Given the description of an element on the screen output the (x, y) to click on. 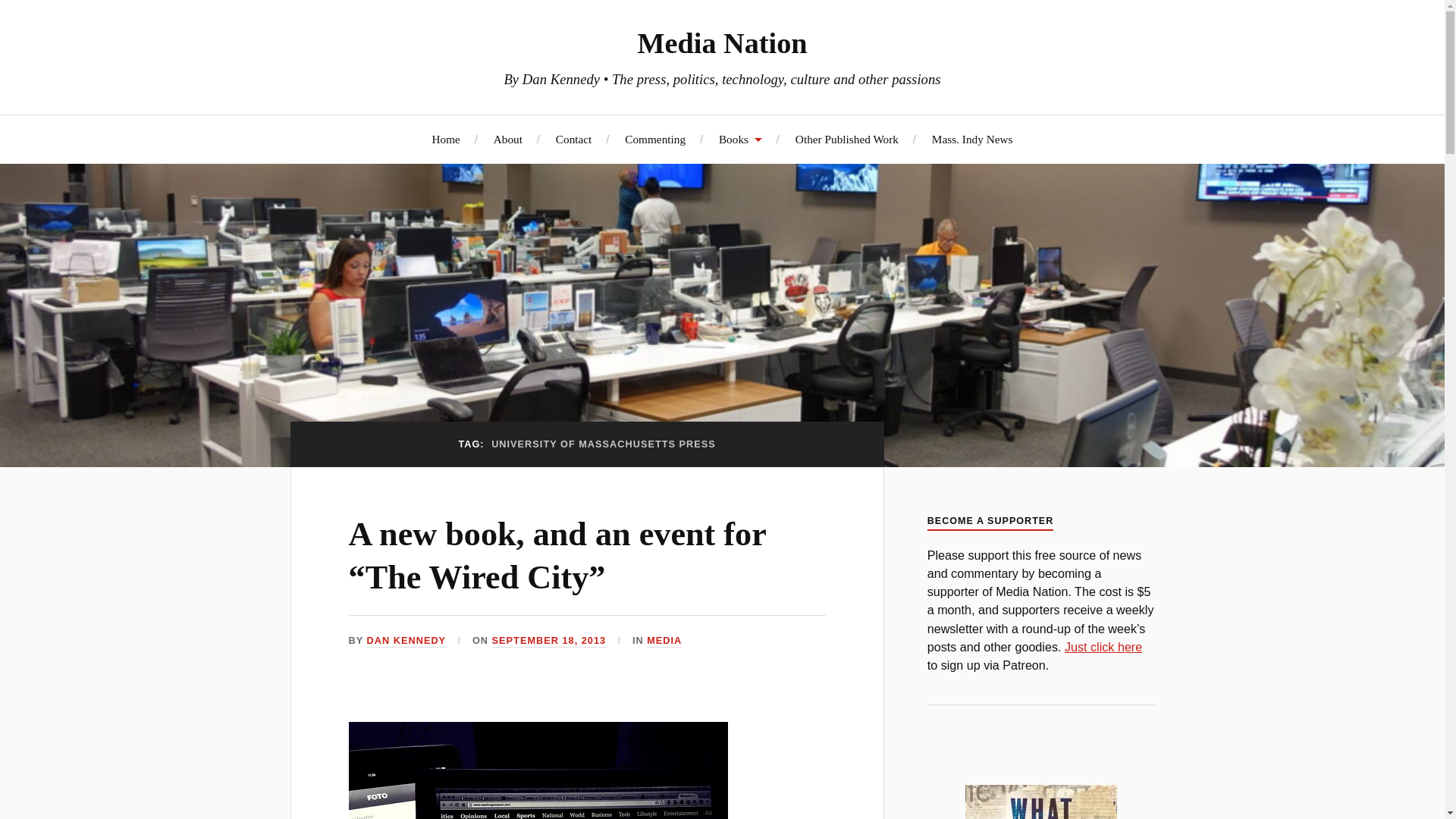
Media Nation (721, 42)
DAN KENNEDY (406, 640)
SEPTEMBER 18, 2013 (549, 640)
Commenting (654, 138)
Mass. Indy News (972, 138)
Books (740, 138)
Other Published Work (846, 138)
Posts by Dan Kennedy (406, 640)
MEDIA (663, 640)
